Given the description of an element on the screen output the (x, y) to click on. 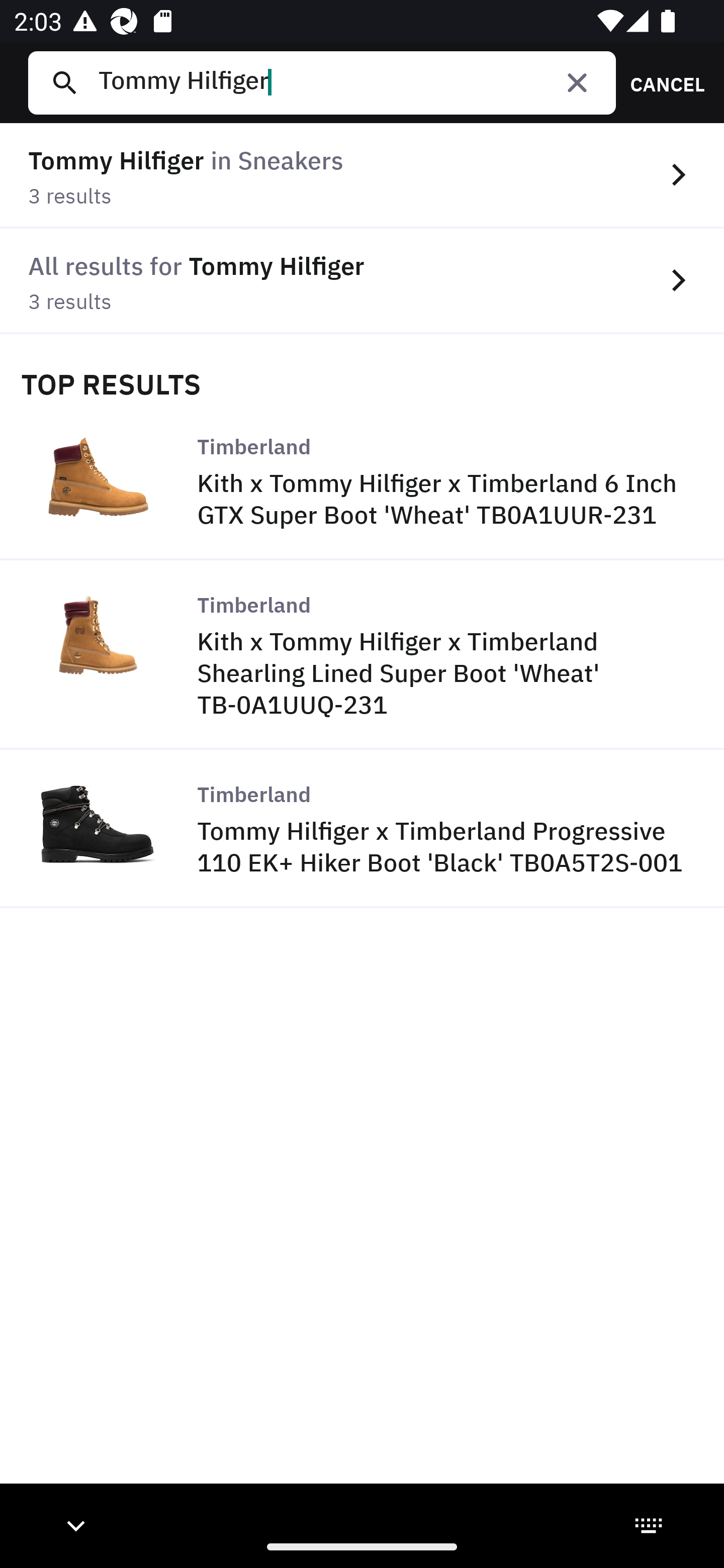
CANCEL (660, 82)
Tommy Hilfiger (349, 82)
 (577, 82)
Tommy Hilfiger  in Sneakers 3 results  (362, 175)
All results for  Tommy Hilfiger 3 results  (362, 280)
